Given the description of an element on the screen output the (x, y) to click on. 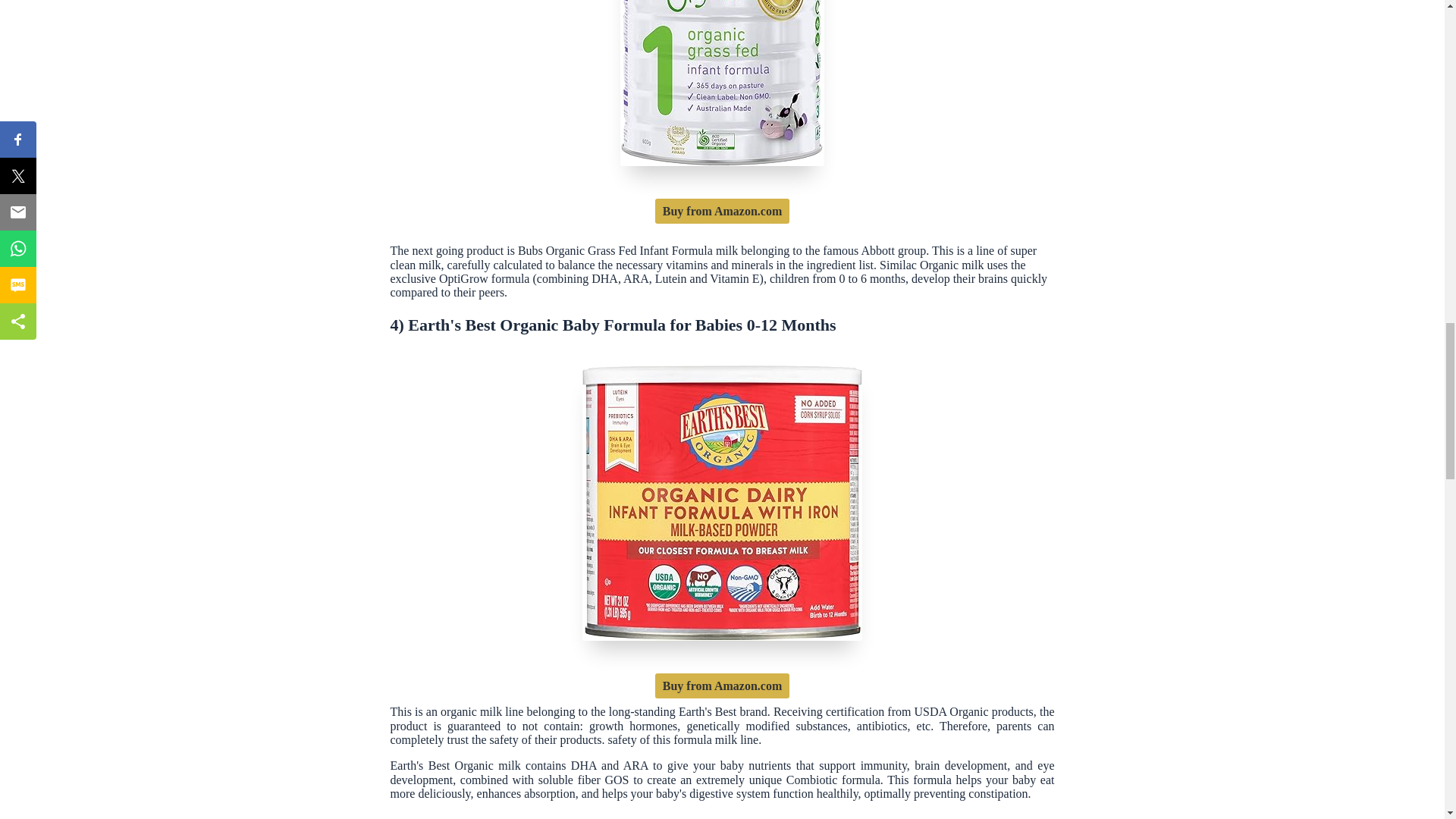
Buy from Amazon.com (722, 685)
Buy from Amazon.com (722, 211)
